Given the description of an element on the screen output the (x, y) to click on. 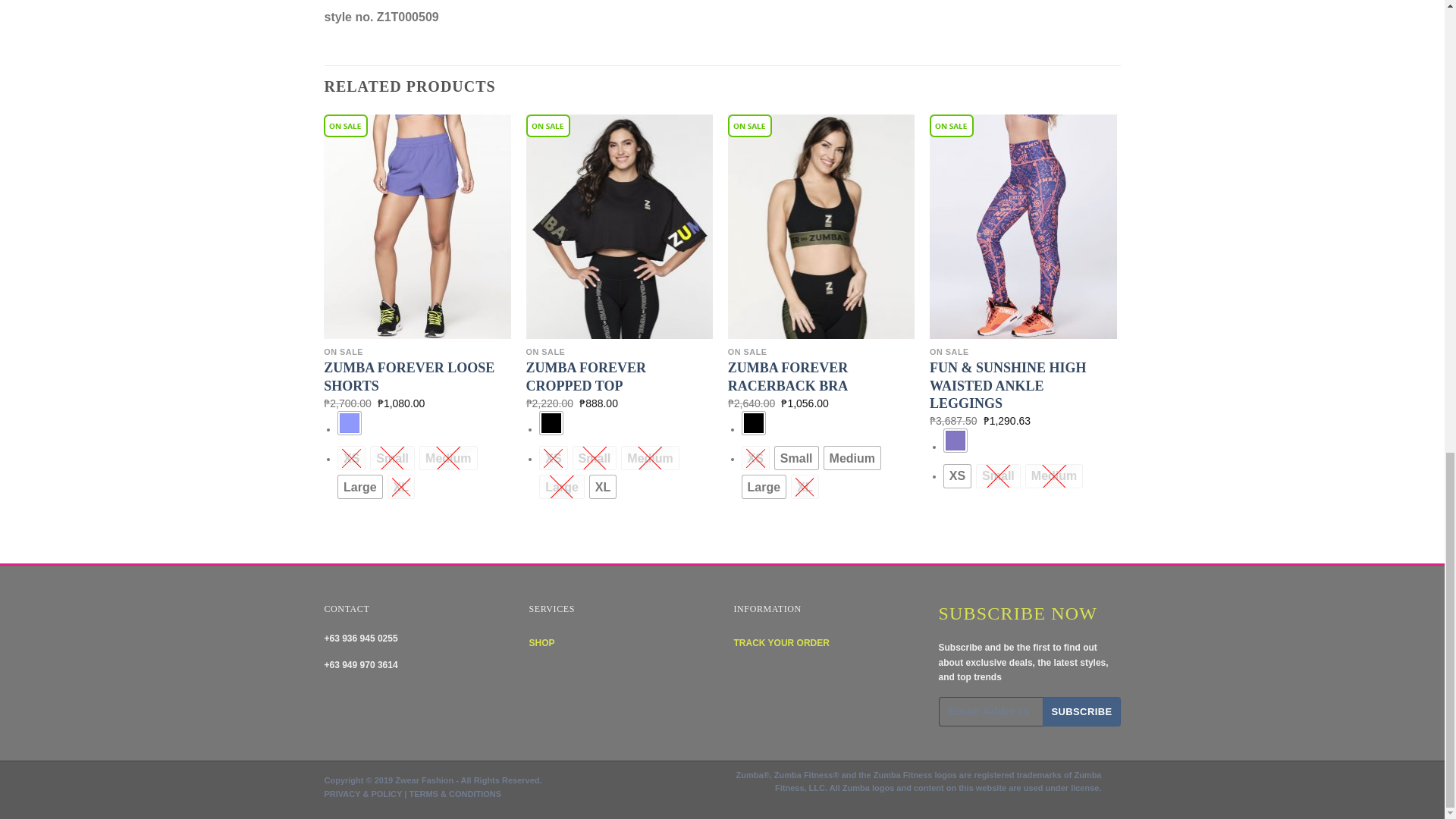
Subscribe (1080, 711)
BLUE PERIWINKLE (349, 422)
XS (351, 457)
Medium (448, 457)
Small (392, 457)
